Given the description of an element on the screen output the (x, y) to click on. 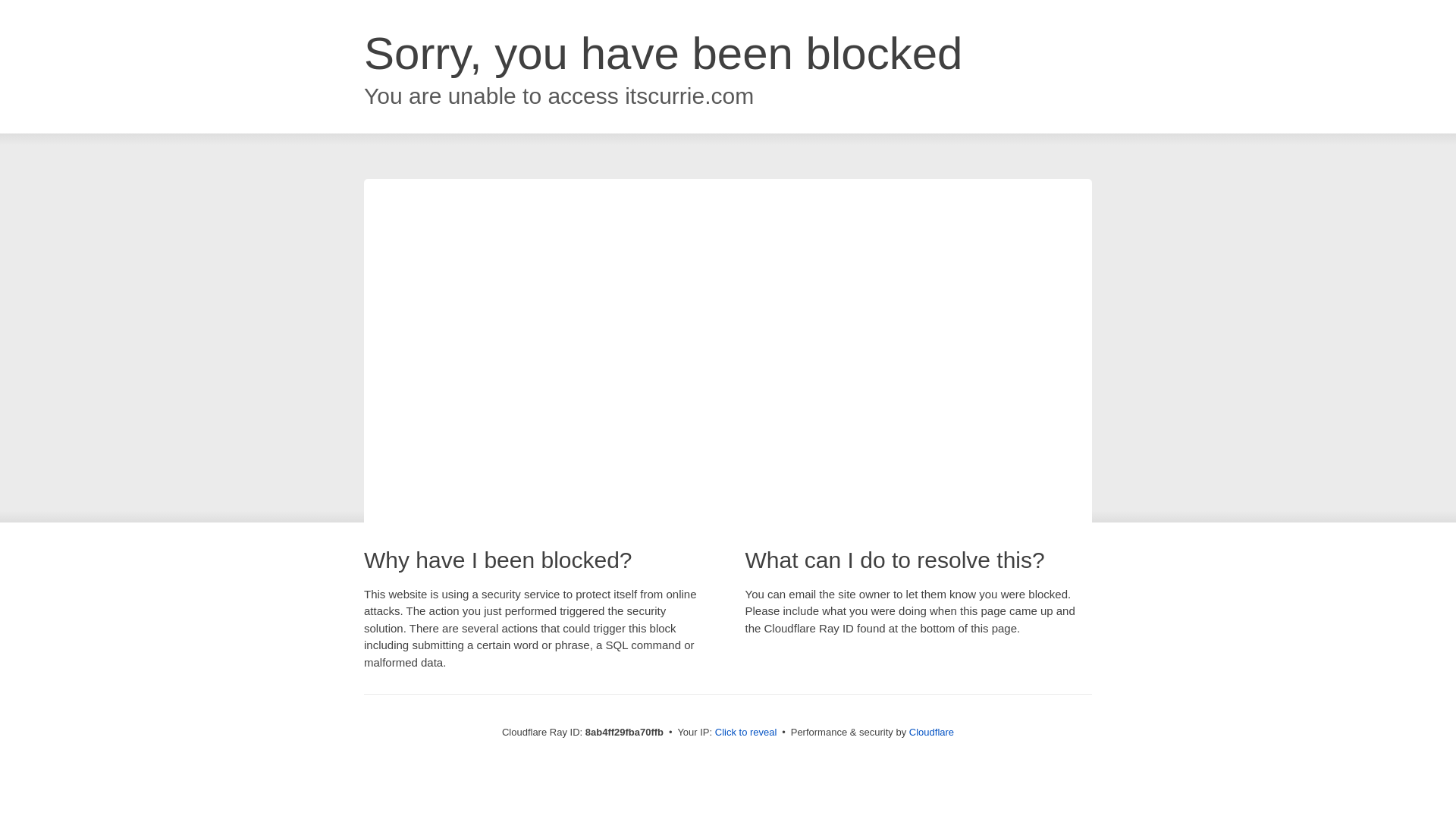
Click to reveal (745, 732)
Cloudflare (930, 731)
